Given the description of an element on the screen output the (x, y) to click on. 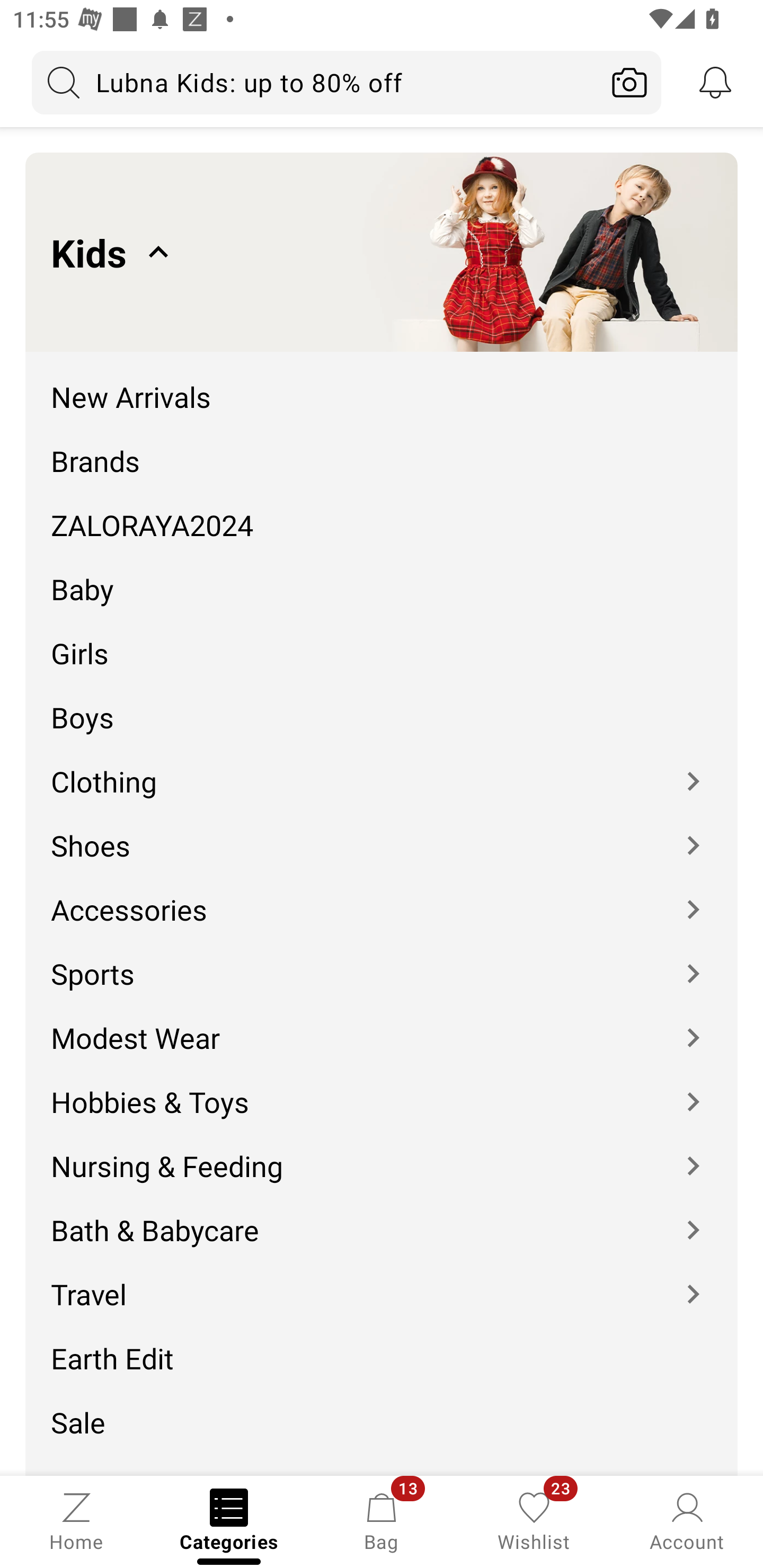
Lubna Kids: up to 80% off (314, 82)
Kids (381, 251)
New Arrivals (381, 383)
Brands (381, 447)
ZALORAYA2024 (381, 511)
Baby (381, 576)
Girls (381, 640)
Boys (381, 704)
Clothing (381, 767)
Shoes (381, 831)
Accessories (381, 895)
Sports (381, 960)
Modest Wear (381, 1024)
Hobbies & Toys (381, 1088)
Nursing & Feeding (381, 1153)
Bath & Babycare (381, 1217)
Travel (381, 1281)
Earth Edit (381, 1344)
Sale (381, 1408)
Home (76, 1519)
Bag, 13 new notifications Bag (381, 1519)
Wishlist, 23 new notifications Wishlist (533, 1519)
Account (686, 1519)
